Given the description of an element on the screen output the (x, y) to click on. 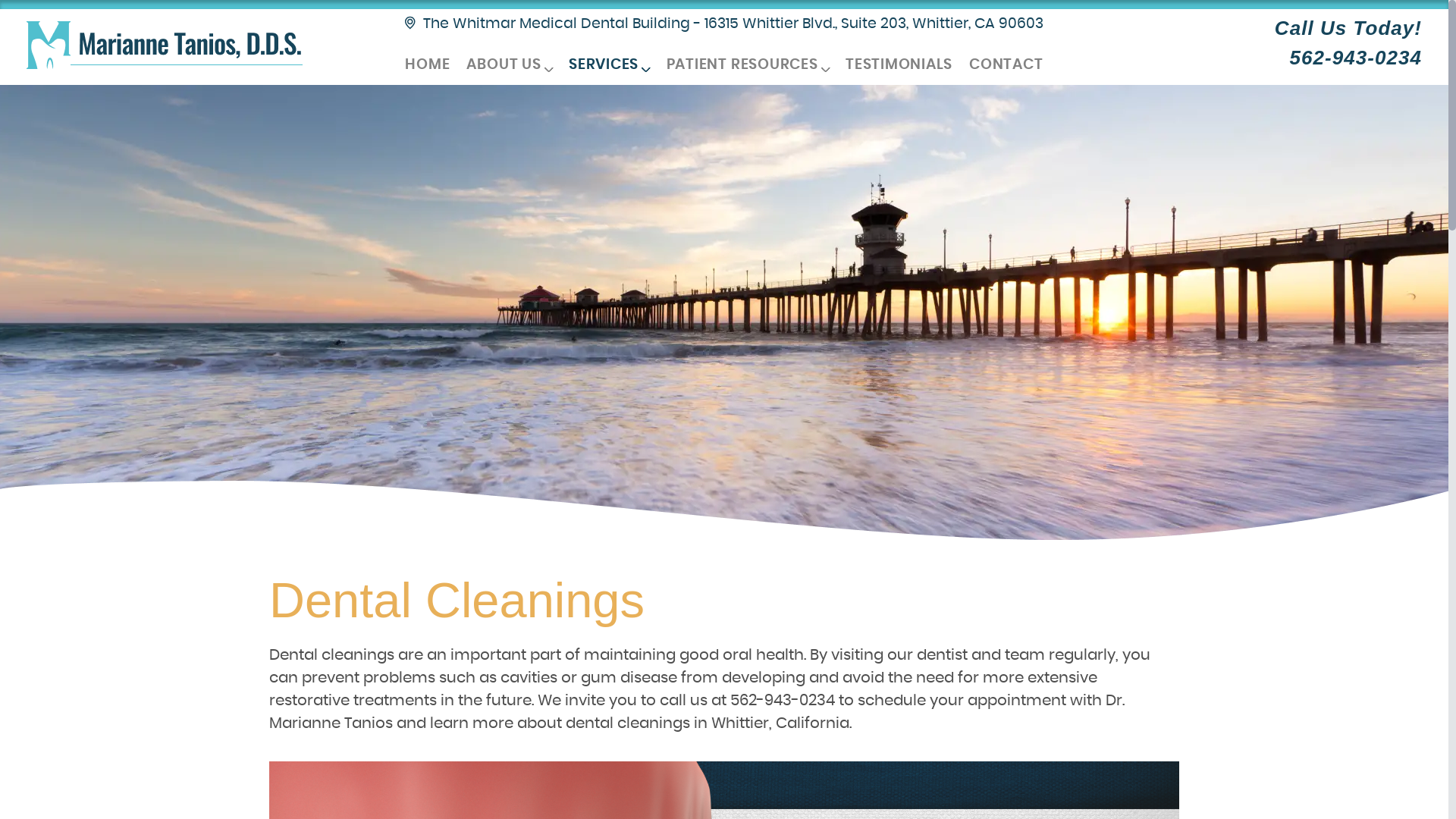
SERVICES Element type: text (609, 65)
ABOUT US Element type: text (509, 65)
HOME Element type: text (427, 65)
562-943-0234 Element type: text (1355, 57)
CONTACT Element type: text (1005, 65)
PATIENT RESOURCES Element type: text (747, 65)
TESTIMONIALS Element type: text (898, 65)
